Given the description of an element on the screen output the (x, y) to click on. 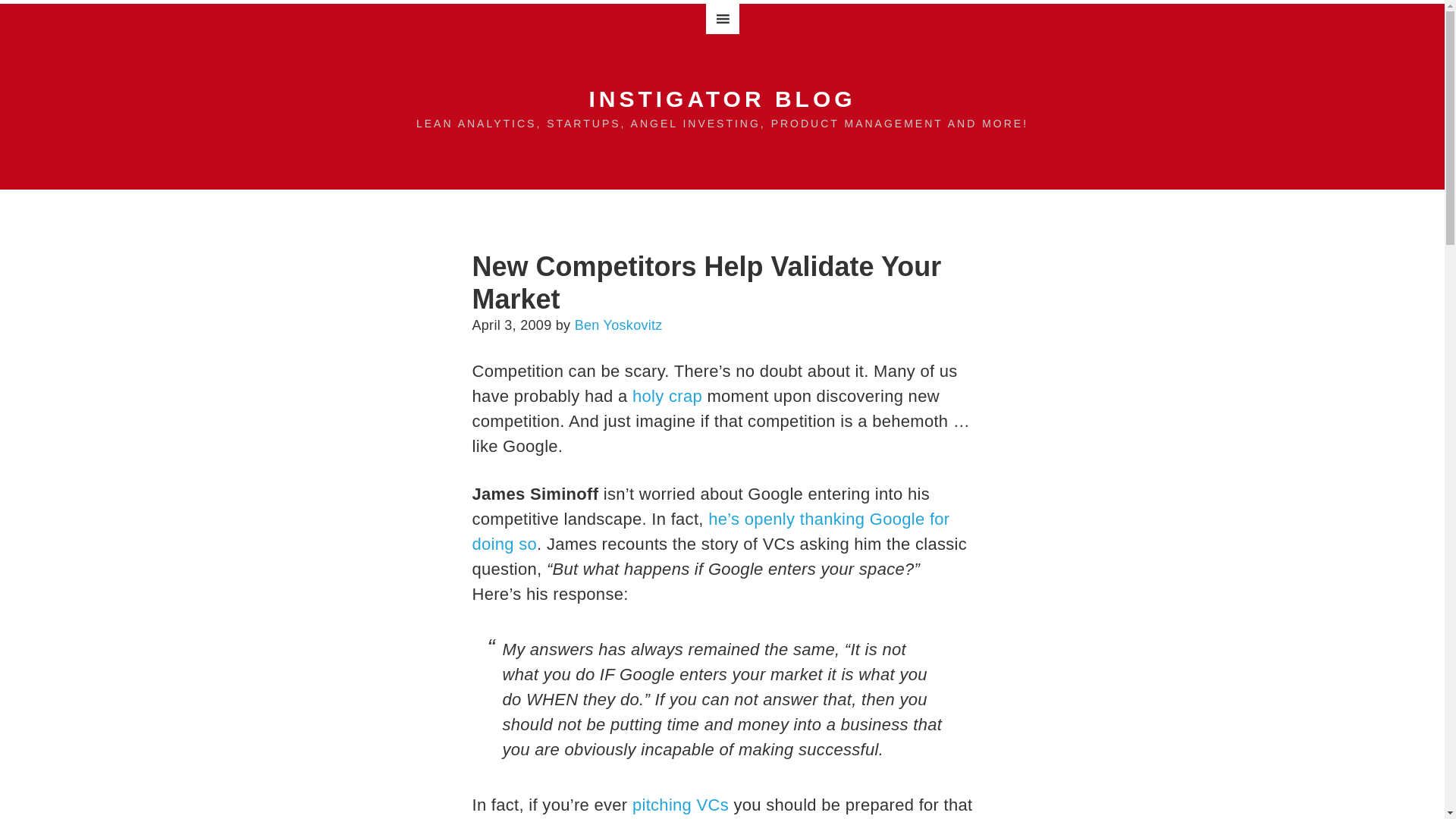
VCs (713, 804)
INSTIGATOR BLOG (722, 98)
pitching (661, 804)
Ben Yoskovitz (618, 324)
holy crap (666, 395)
